Given the description of an element on the screen output the (x, y) to click on. 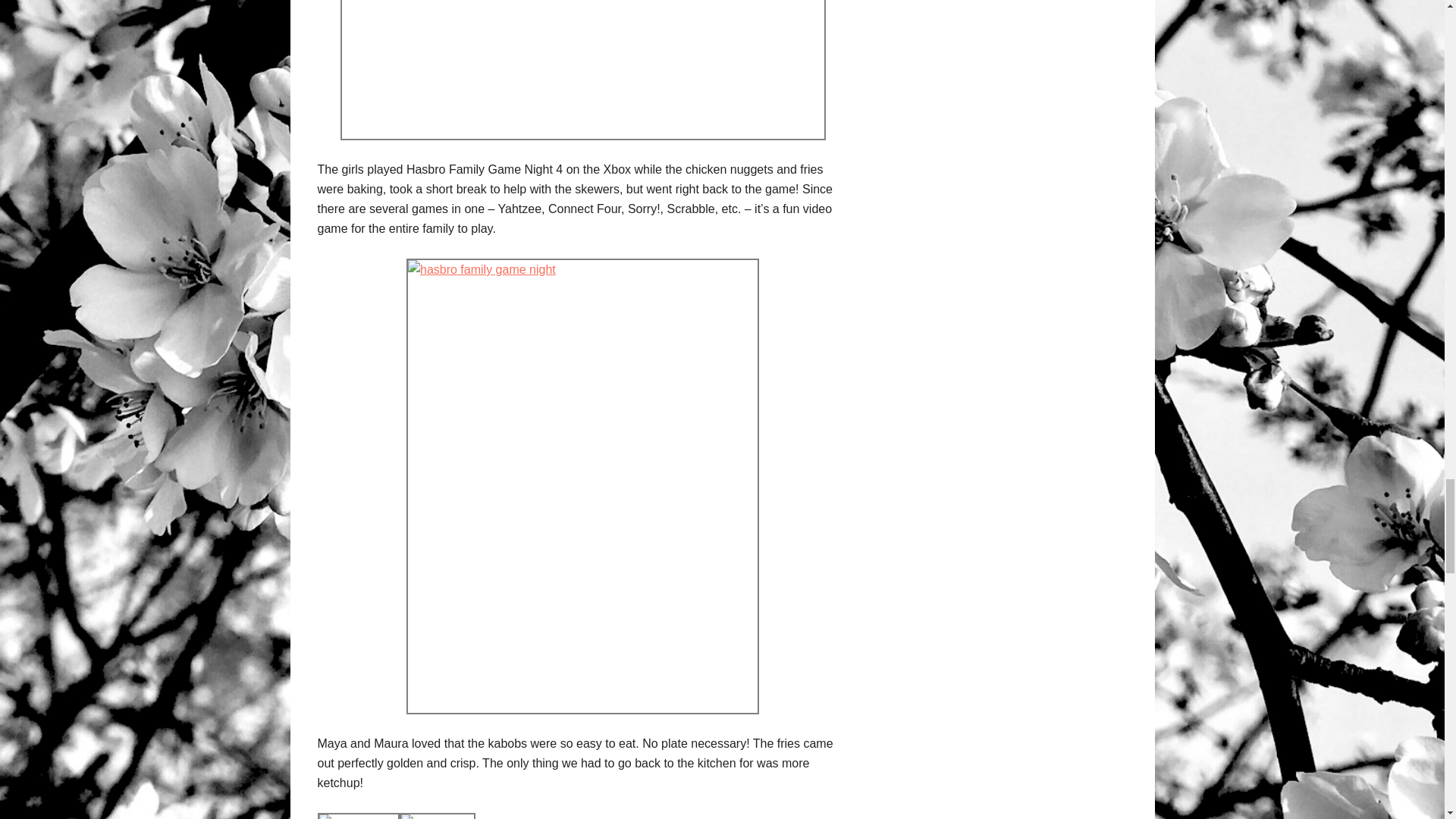
game night by MrsMarianaP, on Flickr (436, 818)
playing xbox by MrsMarianaP, on Flickr (357, 818)
heinz ketchup by MrsMarianaP, on Flickr (582, 70)
